Given the description of an element on the screen output the (x, y) to click on. 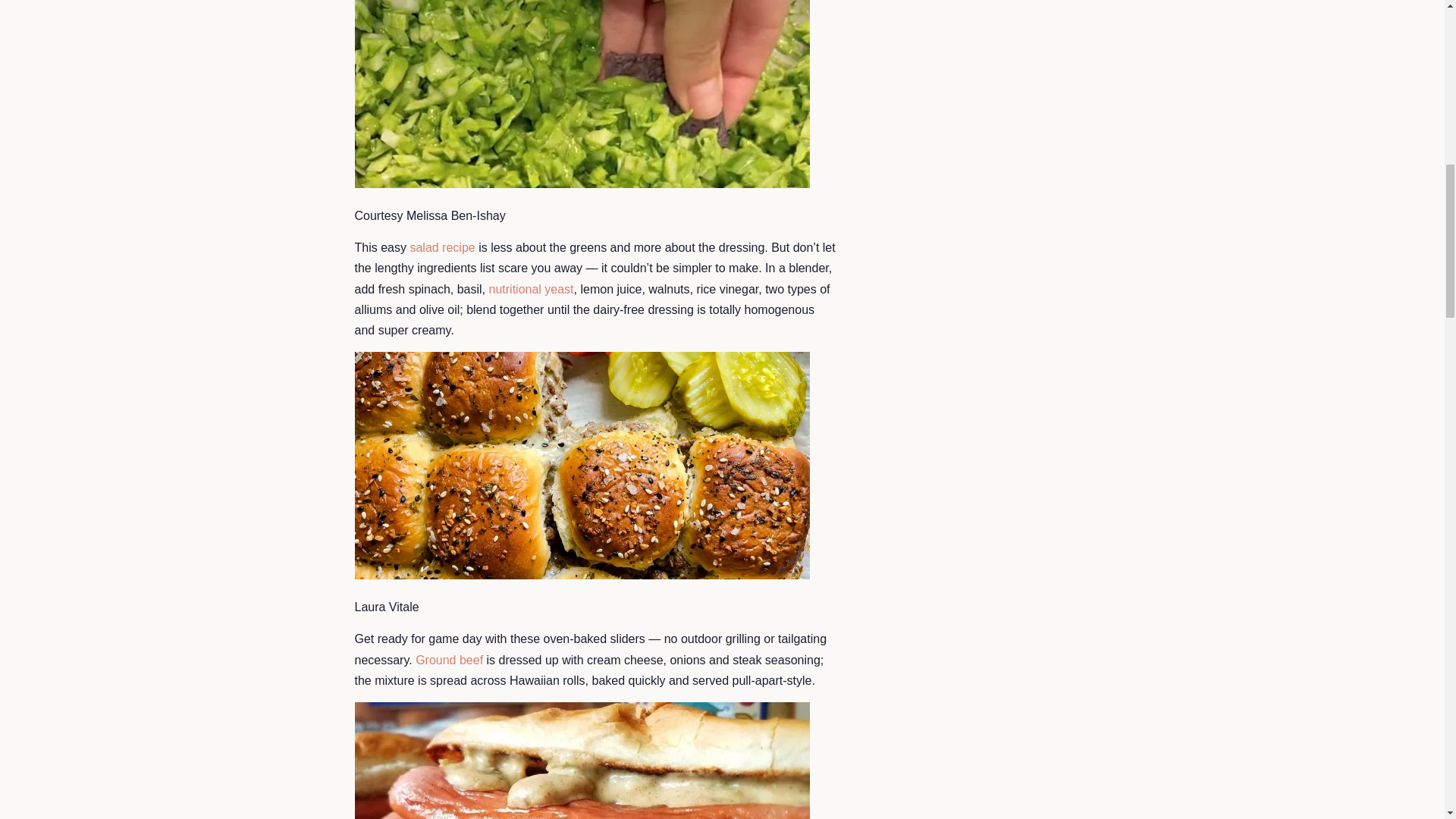
Ground beef (448, 659)
nutritional yeast (530, 288)
salad recipe (441, 246)
